Given the description of an element on the screen output the (x, y) to click on. 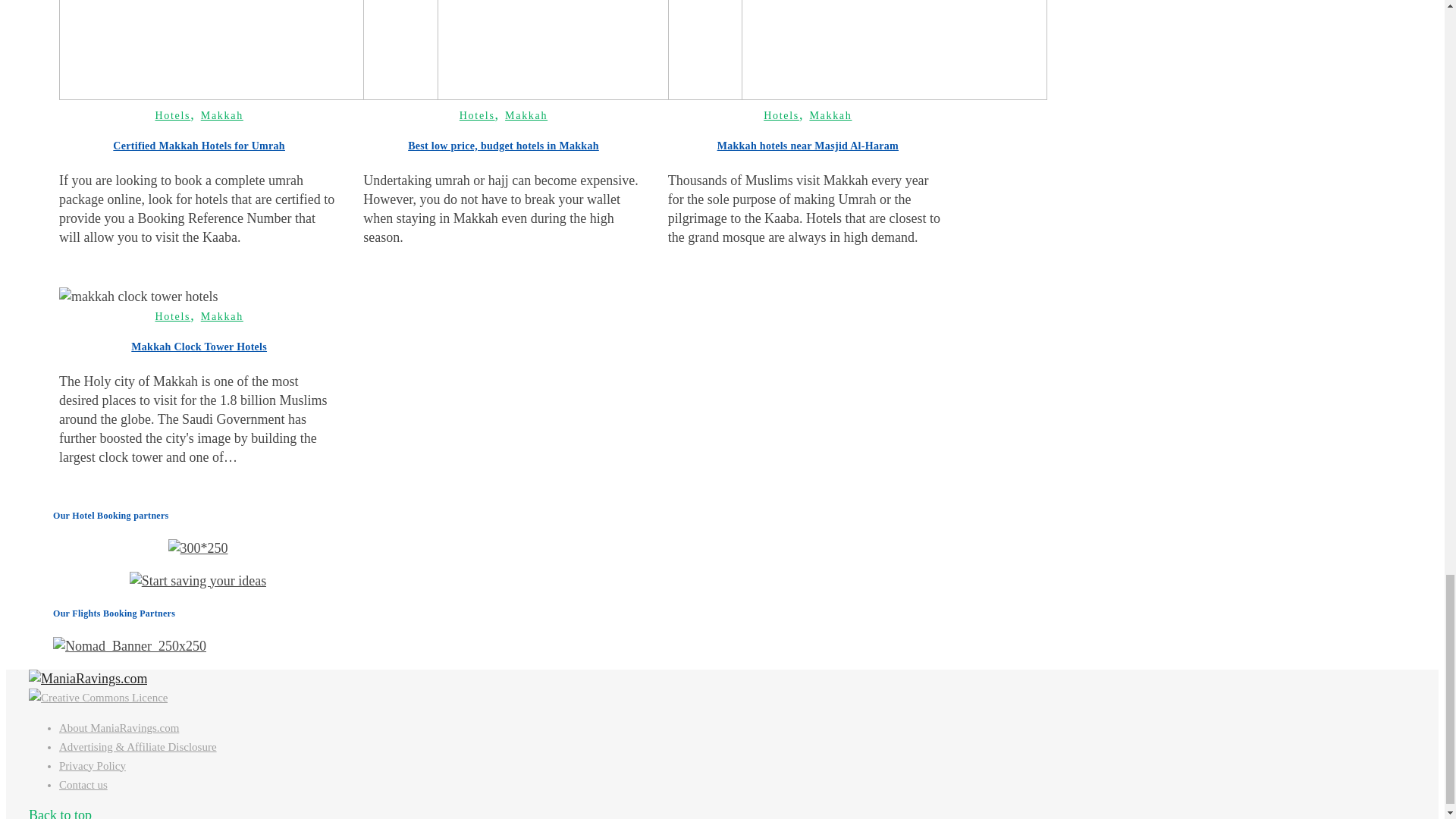
ManiaRavings.com (88, 678)
